Given the description of an element on the screen output the (x, y) to click on. 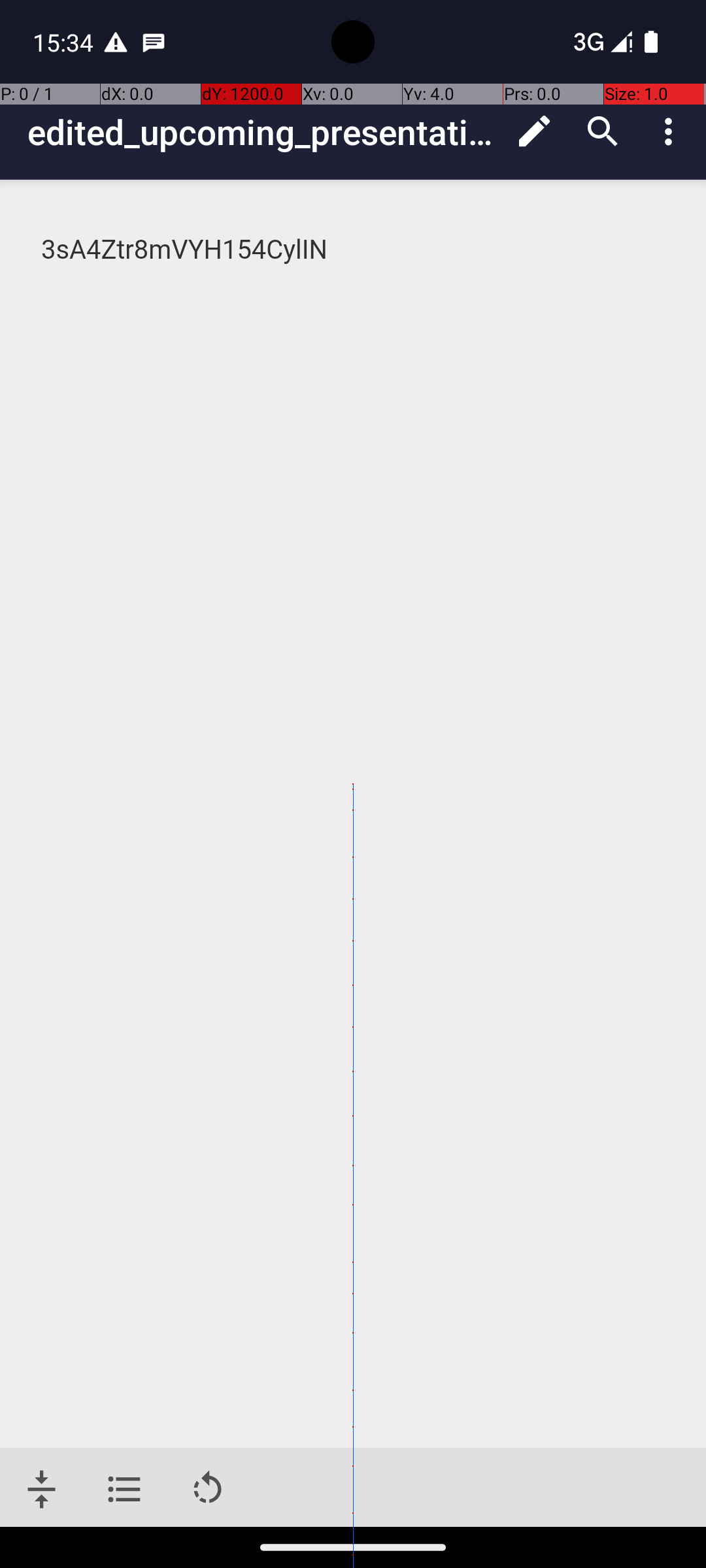
edited_upcoming_presentation_outline Element type: android.widget.TextView (263, 131)
Edit mode Element type: android.widget.TextView (534, 131)
Jump to bottom Element type: android.widget.ImageView (41, 1488)
Table of contents Element type: android.widget.ImageView (124, 1488)
Rotate Element type: android.widget.ImageView (207, 1488)
3sA4Ztr8mVYH154CylIN Element type: android.widget.TextView (354, 249)
